Given the description of an element on the screen output the (x, y) to click on. 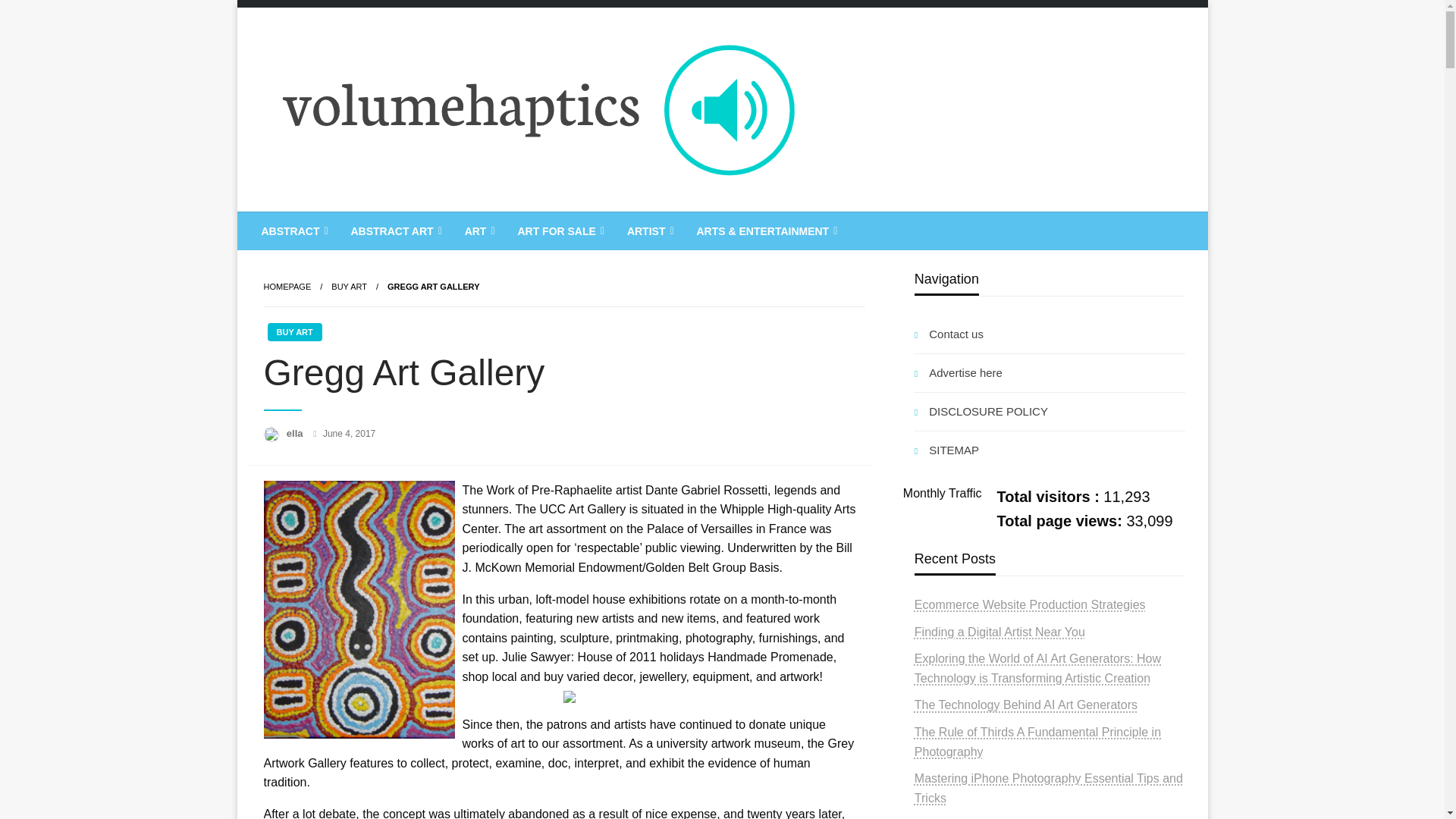
ART FOR SALE (557, 231)
ella (295, 432)
Homepage (287, 286)
ART (478, 231)
ARTIST (649, 231)
ABSTRACT ART (394, 231)
Volumehaptics (362, 223)
Buy Art (348, 286)
ABSTRACT (292, 231)
